Given the description of an element on the screen output the (x, y) to click on. 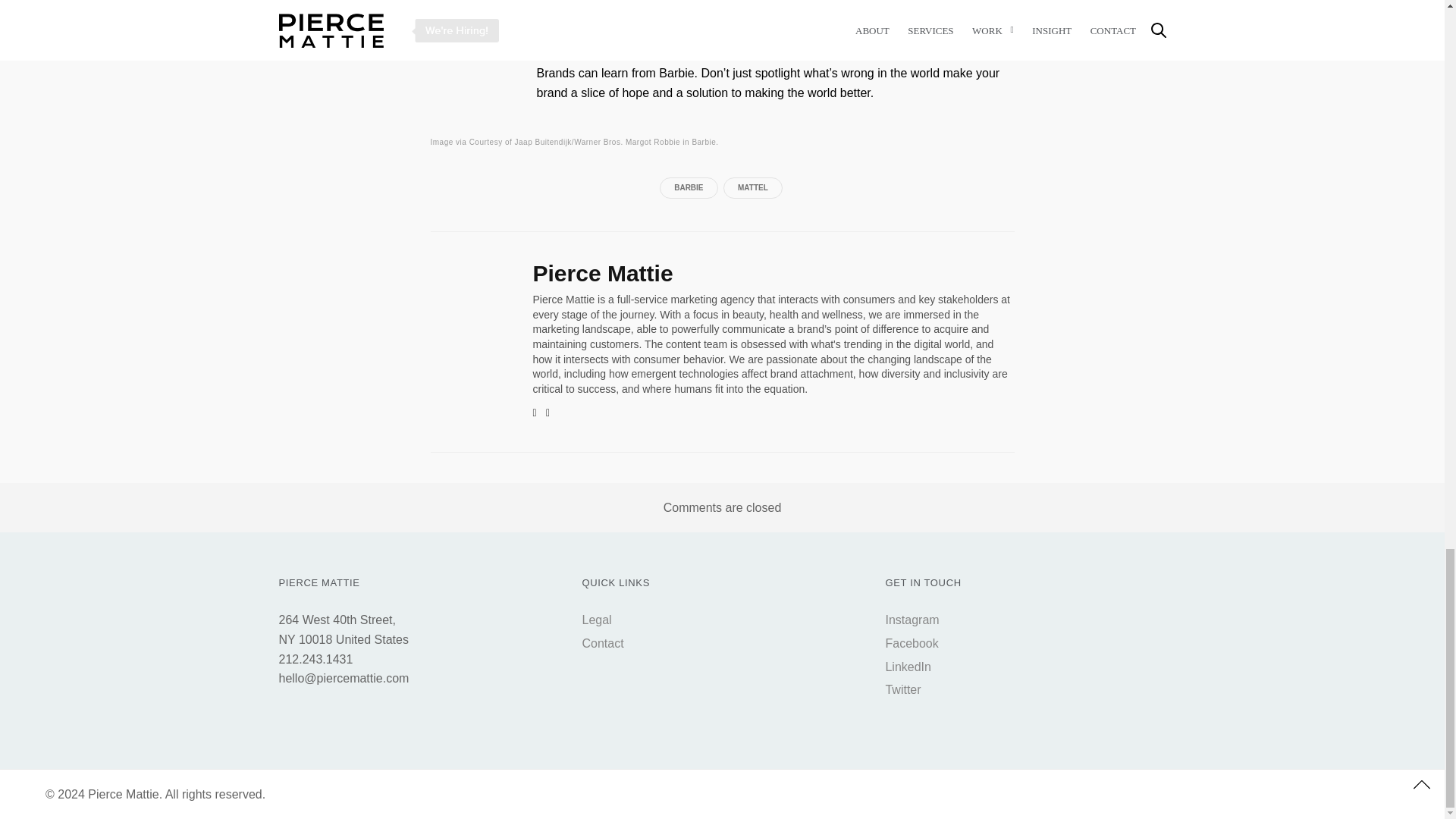
Instagram (912, 619)
Contact (601, 643)
MATTEL (753, 188)
Legal (595, 619)
LinkedIn (908, 666)
Twitter (902, 689)
Facebook (911, 643)
BARBIE (688, 188)
Pierce Mattie (602, 273)
